Given the description of an element on the screen output the (x, y) to click on. 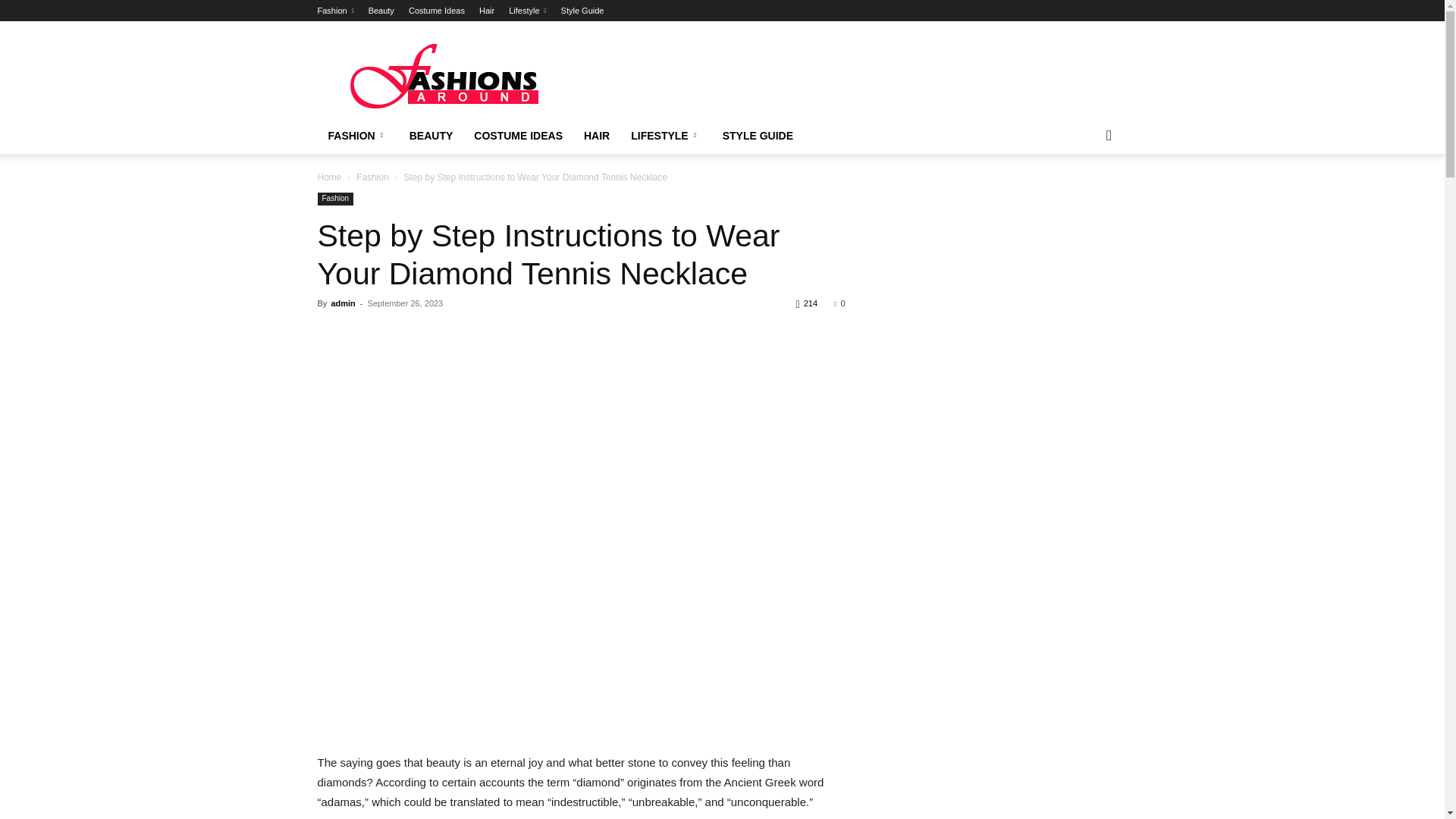
Lifestyle (527, 10)
Beauty (381, 10)
FASHION (357, 135)
Costume Ideas (436, 10)
View all posts in Fashion (372, 176)
LIFESTYLE (665, 135)
Hair (487, 10)
HAIR (596, 135)
BEAUTY (431, 135)
Style Guide (582, 10)
Fashion (335, 10)
COSTUME IDEAS (518, 135)
